Given the description of an element on the screen output the (x, y) to click on. 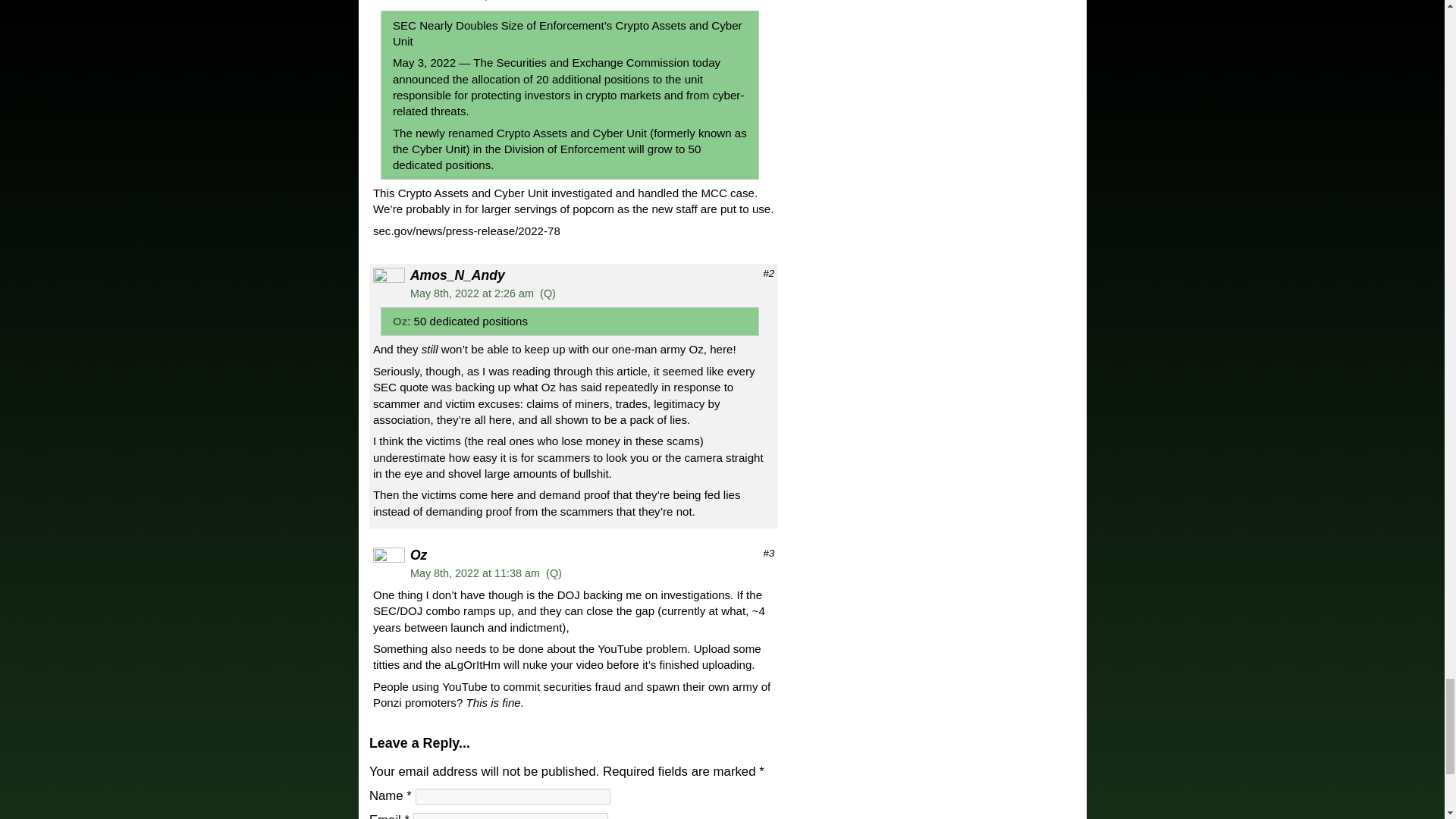
Oz (400, 320)
May 8th, 2022 at 11:38 am (475, 573)
Click here or select text to quote comment (554, 573)
Click here or select text to quote comment (548, 293)
May 8th, 2022 at 2:26 am (472, 293)
